Given the description of an element on the screen output the (x, y) to click on. 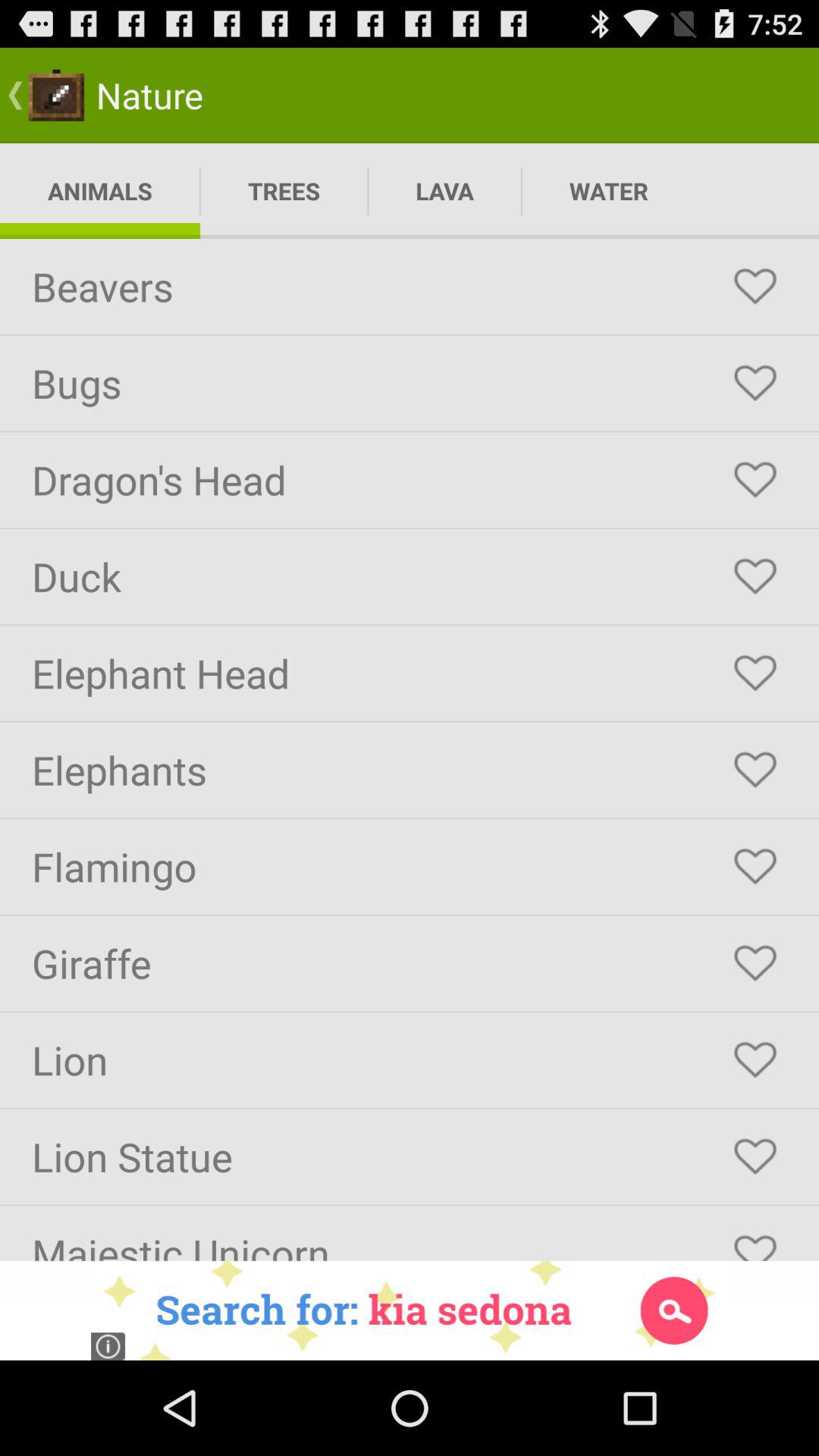
favorite lion statue (755, 1156)
